Given the description of an element on the screen output the (x, y) to click on. 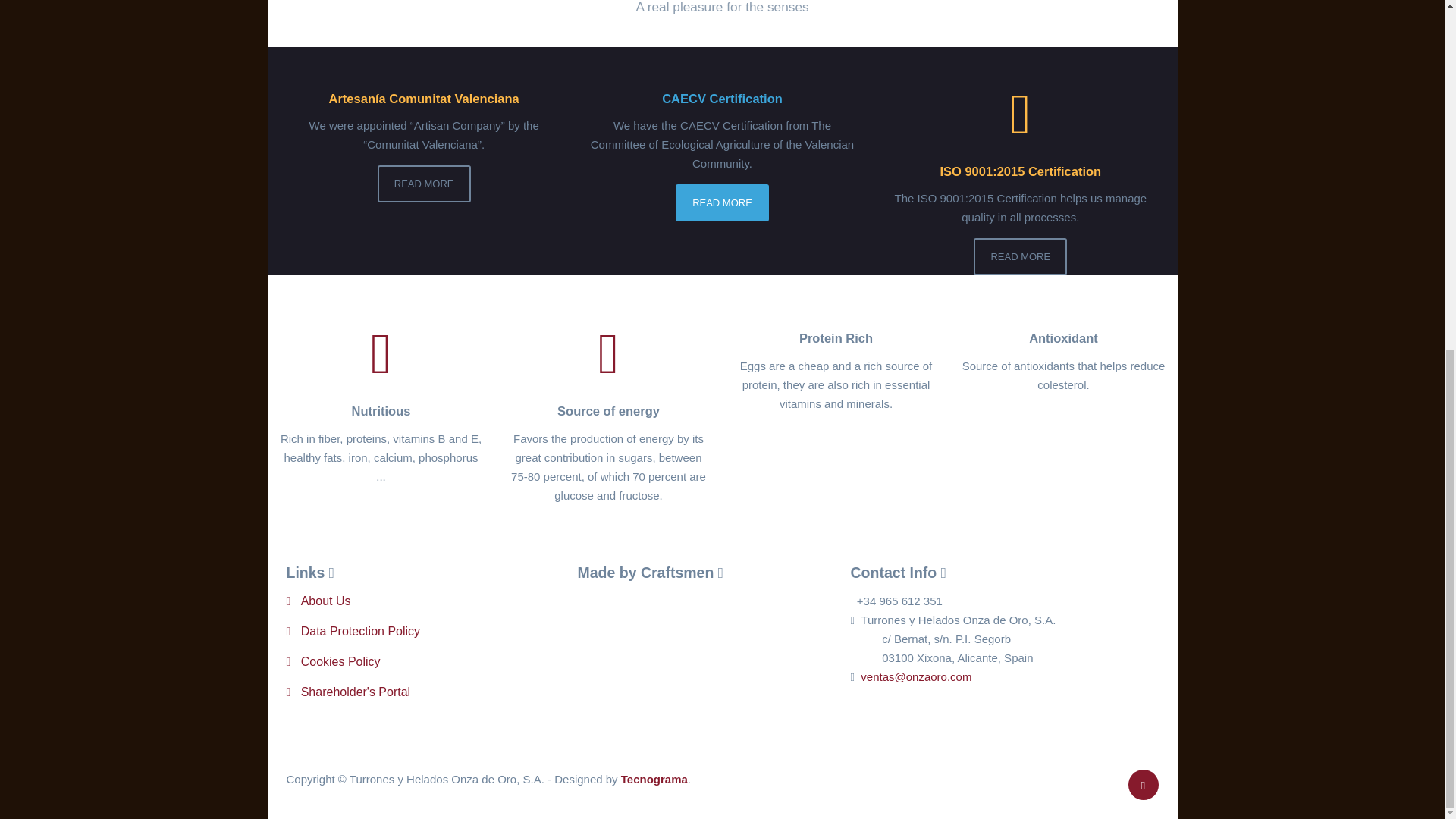
Tecnograma (654, 779)
